Given the description of an element on the screen output the (x, y) to click on. 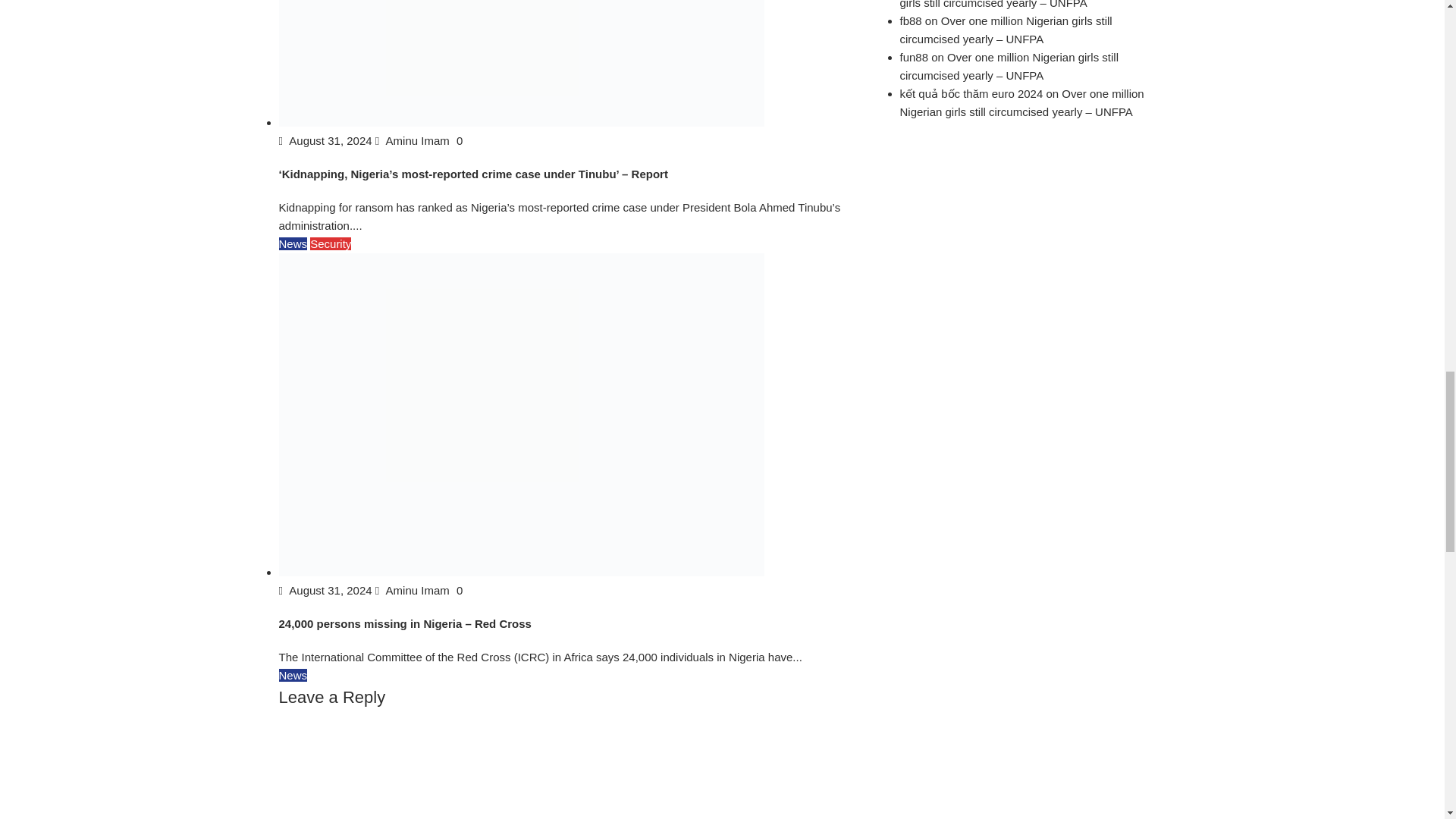
Aminu Imam (413, 590)
Aminu Imam (413, 140)
Comment Form (580, 765)
